Given the description of an element on the screen output the (x, y) to click on. 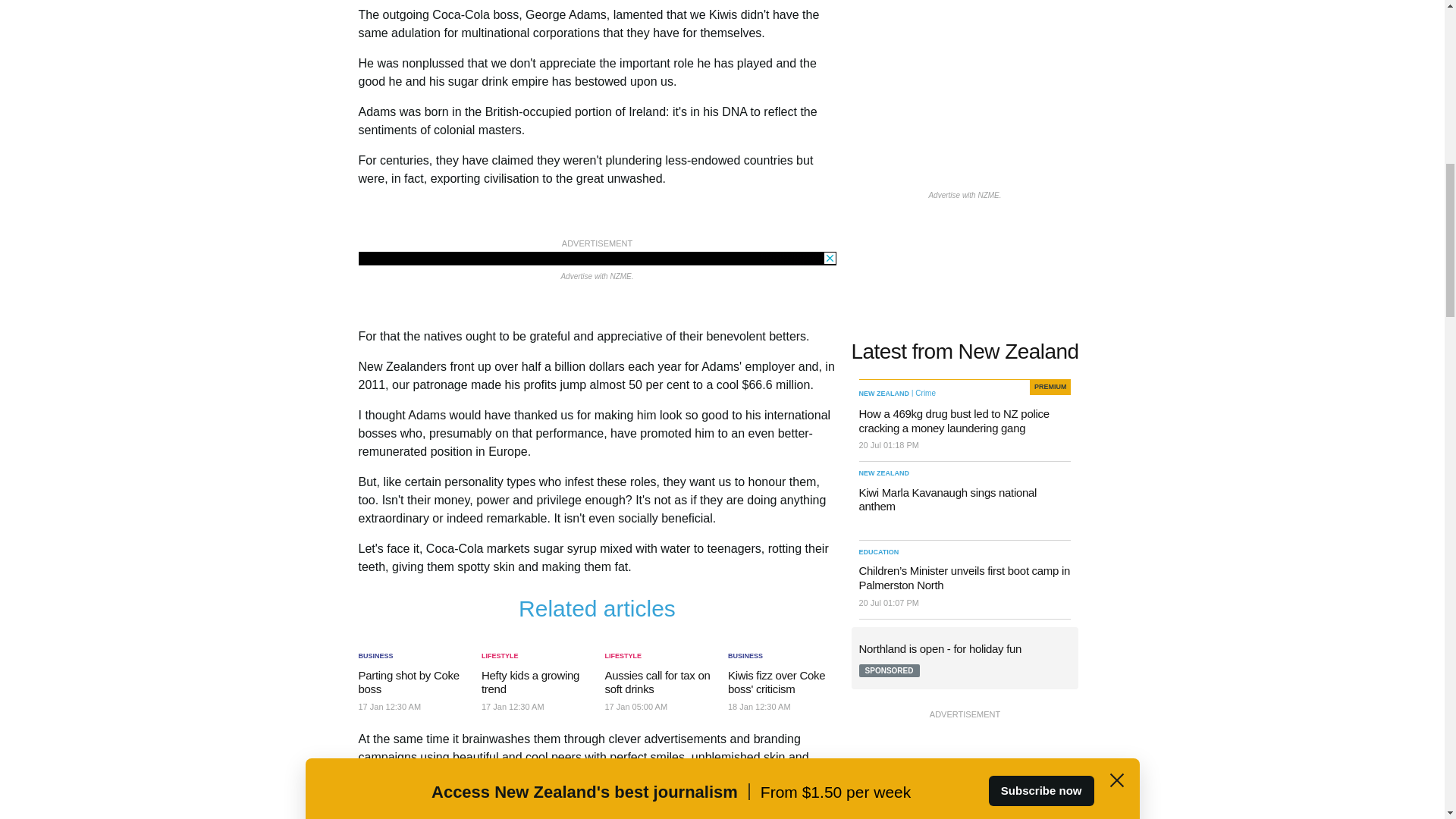
3rd party ad content (596, 258)
3rd party ad content (964, 770)
